Given the description of an element on the screen output the (x, y) to click on. 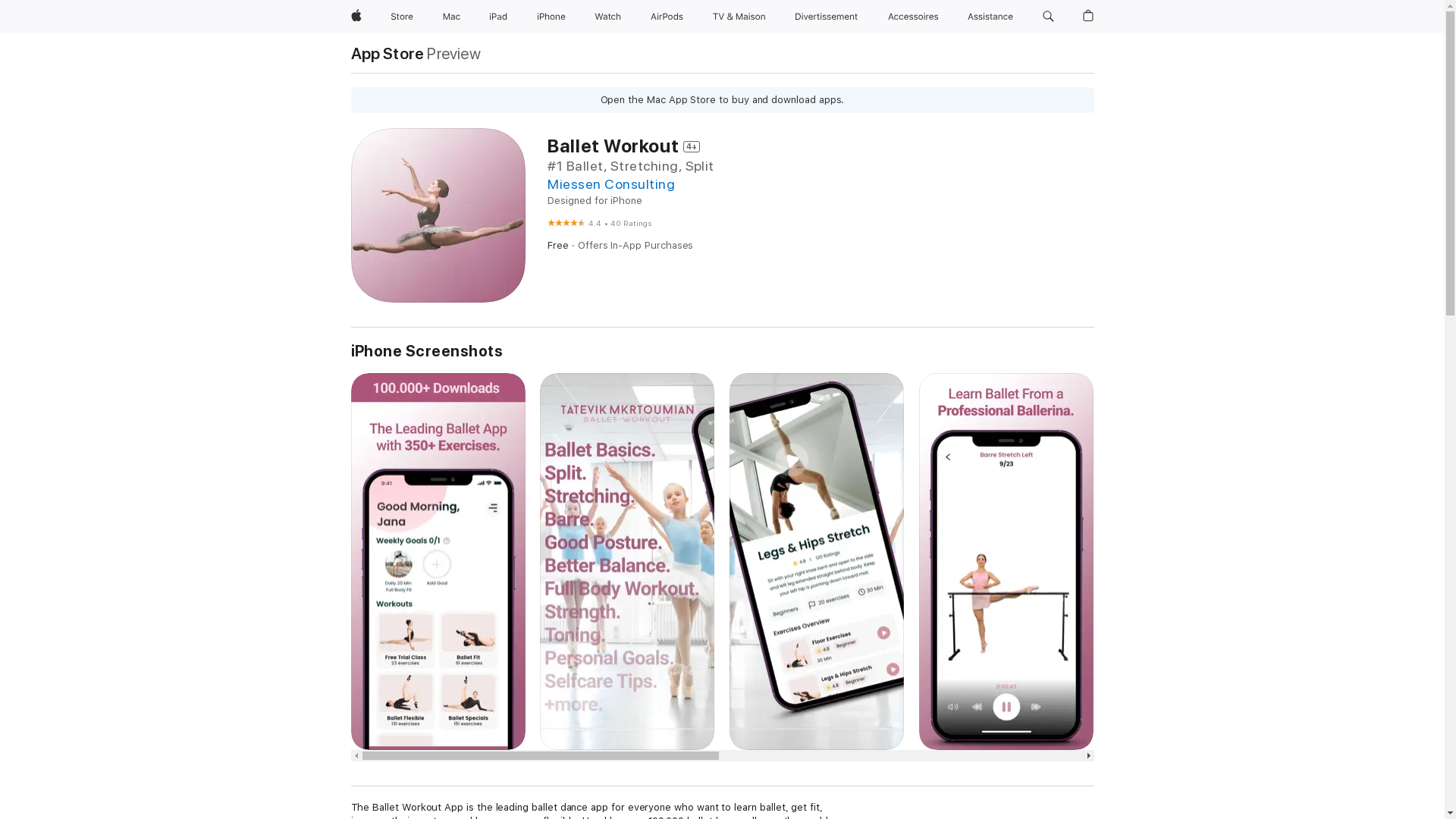
Mac Element type: text (451, 16)
Divertissements Element type: text (826, 16)
TV & Maison Element type: text (738, 16)
Assistance Element type: text (990, 16)
iPad Element type: text (498, 16)
Accessoires Element type: text (912, 16)
iPhone Element type: text (550, 16)
Miessen Consulting Element type: text (610, 183)
Store Element type: text (401, 16)
Watch Element type: text (607, 16)
AirPods Element type: text (666, 16)
Apple Element type: text (355, 16)
App Store Element type: text (386, 53)
